Given the description of an element on the screen output the (x, y) to click on. 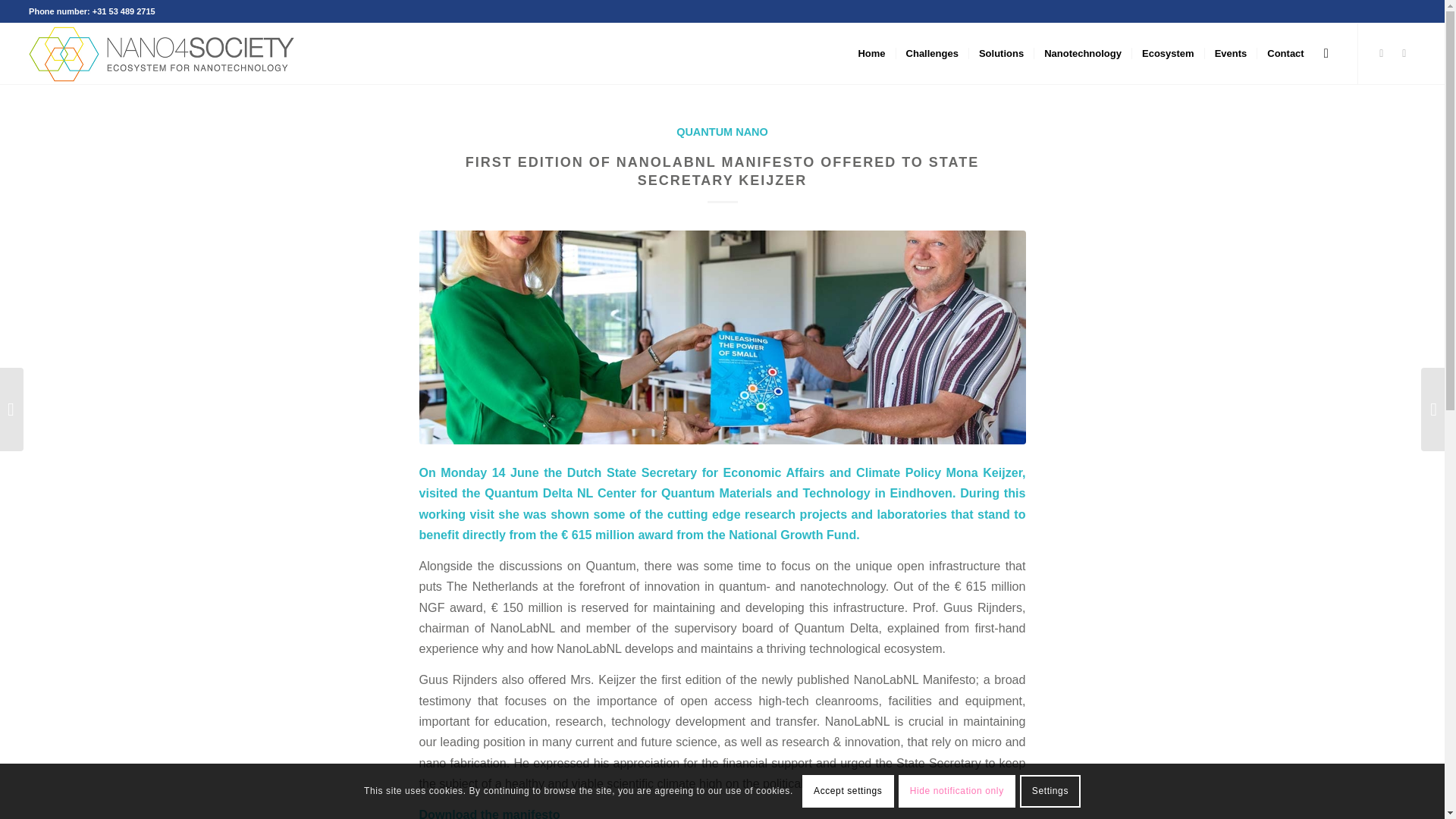
LinkedIn (1404, 52)
Solutions (1000, 53)
Twitter (1381, 52)
Contact (1284, 53)
Quantum Delta NL (538, 492)
Download the manifesto (489, 813)
Challenges (931, 53)
award from the National Growth Fund (746, 534)
Nanotechnology (1082, 53)
QUANTUM NANO (722, 132)
Ecosystem (1167, 53)
NLNL-Manifesto-Guus-Rijnders-Mona-Keijzer (722, 337)
